Given the description of an element on the screen output the (x, y) to click on. 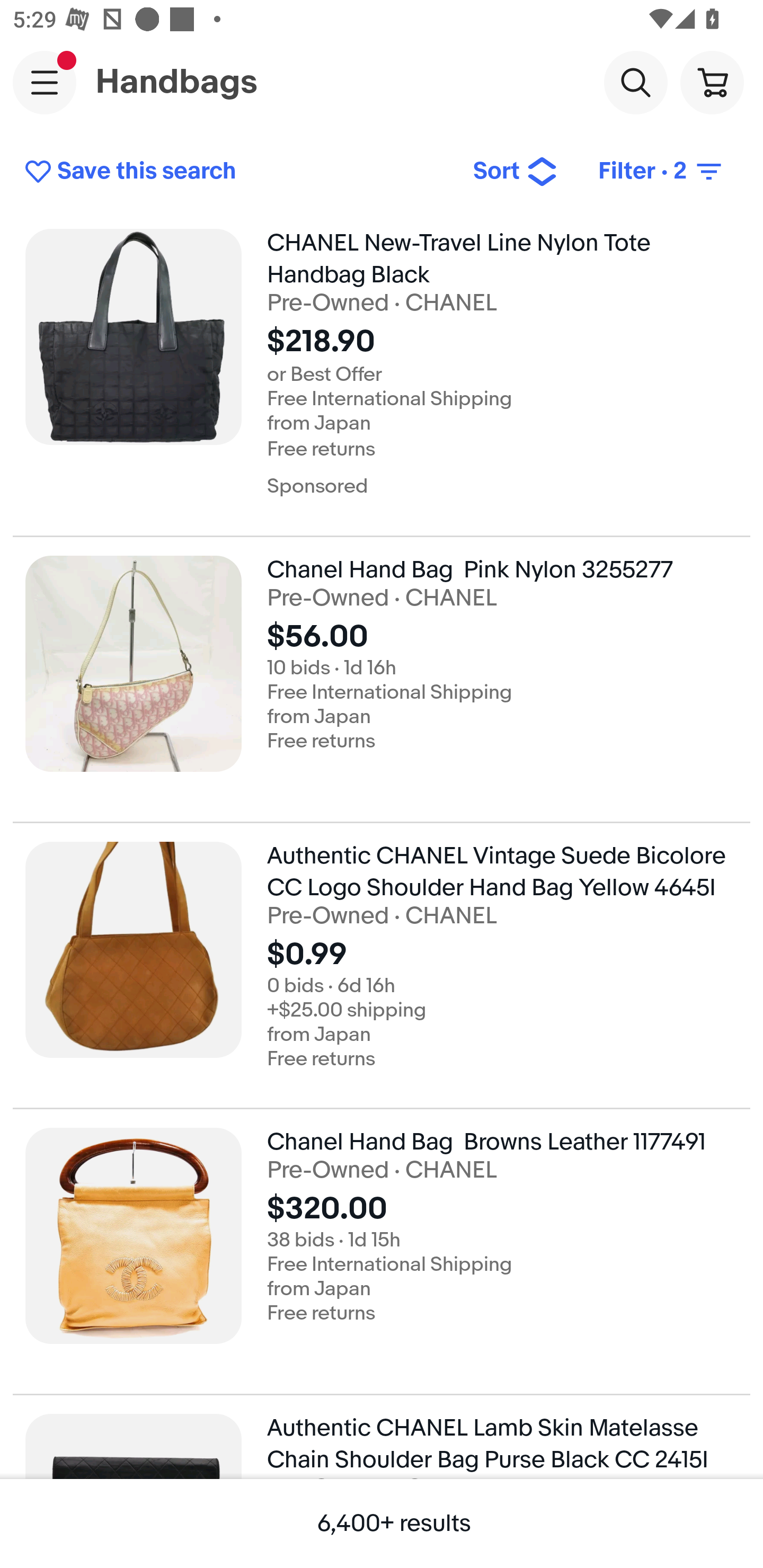
Main navigation, open (44, 82)
Search (635, 81)
Cart button shopping cart (711, 81)
Save this search (235, 171)
Sort (515, 171)
Filter • 2 Filter (2 applied) (661, 171)
